Given the description of an element on the screen output the (x, y) to click on. 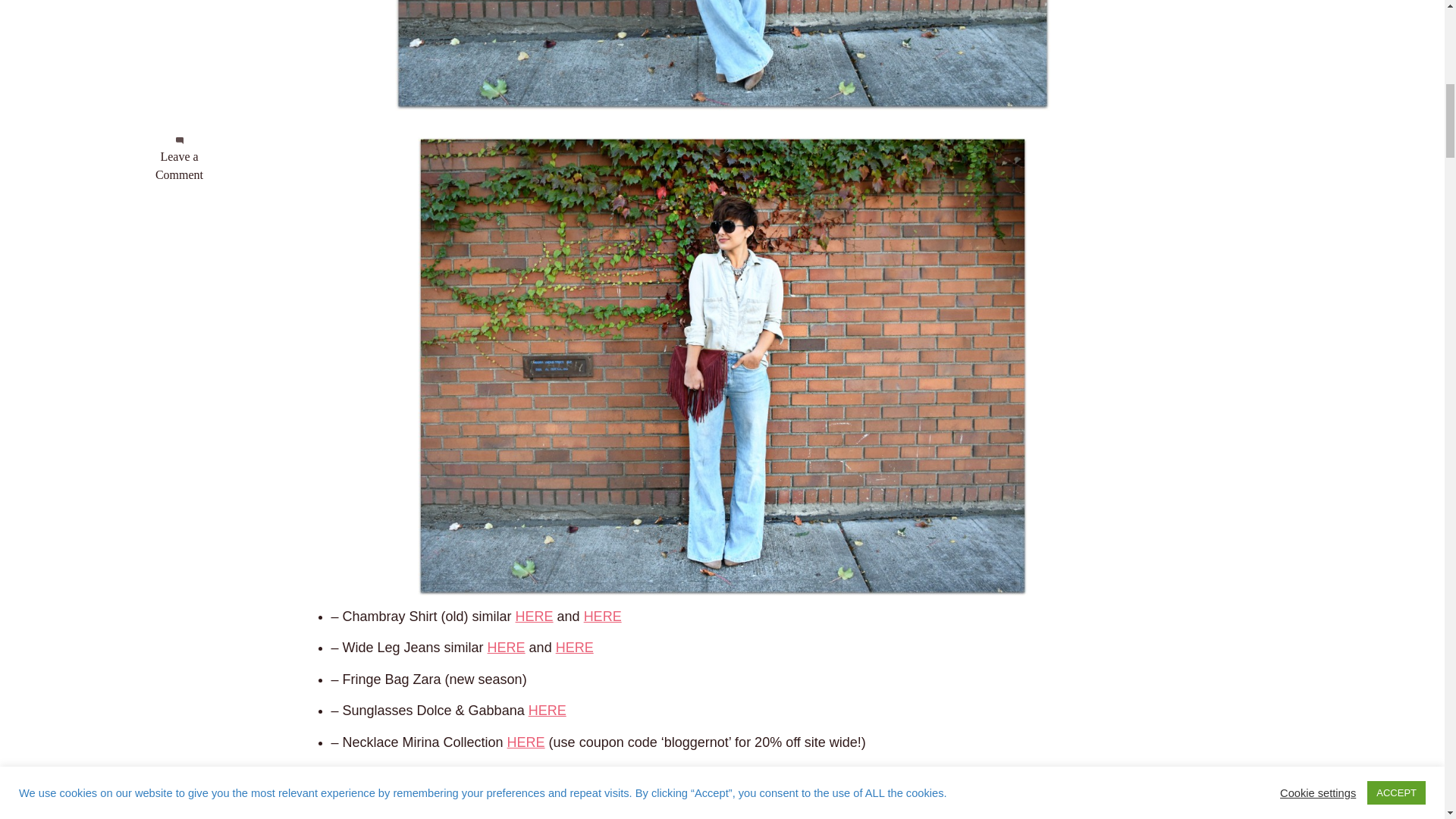
HERE (534, 616)
HERE (547, 710)
HERE (575, 647)
HERE (506, 647)
HERE (525, 742)
HERE (602, 616)
